Given the description of an element on the screen output the (x, y) to click on. 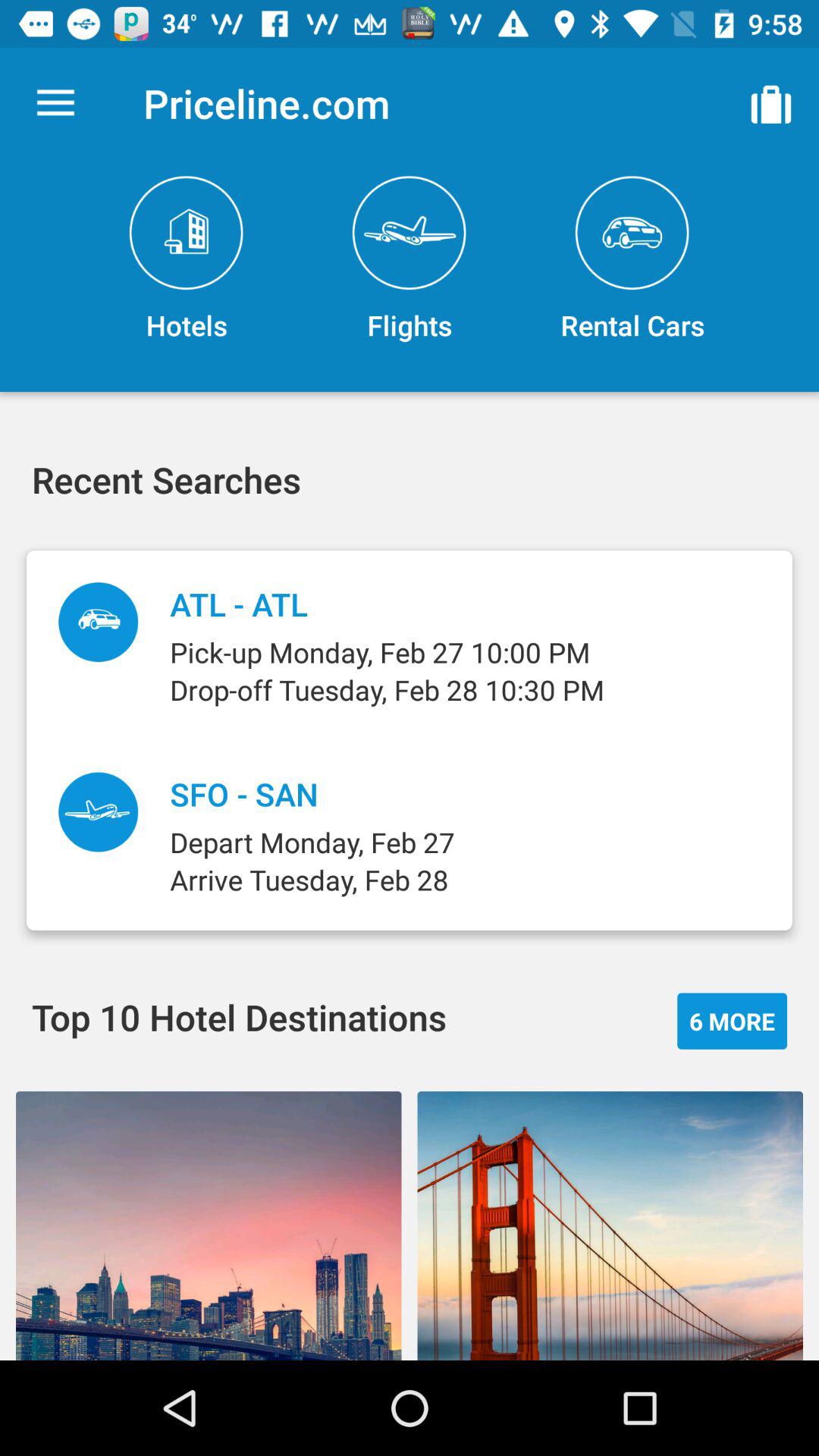
turn off item above rental cars (771, 103)
